Given the description of an element on the screen output the (x, y) to click on. 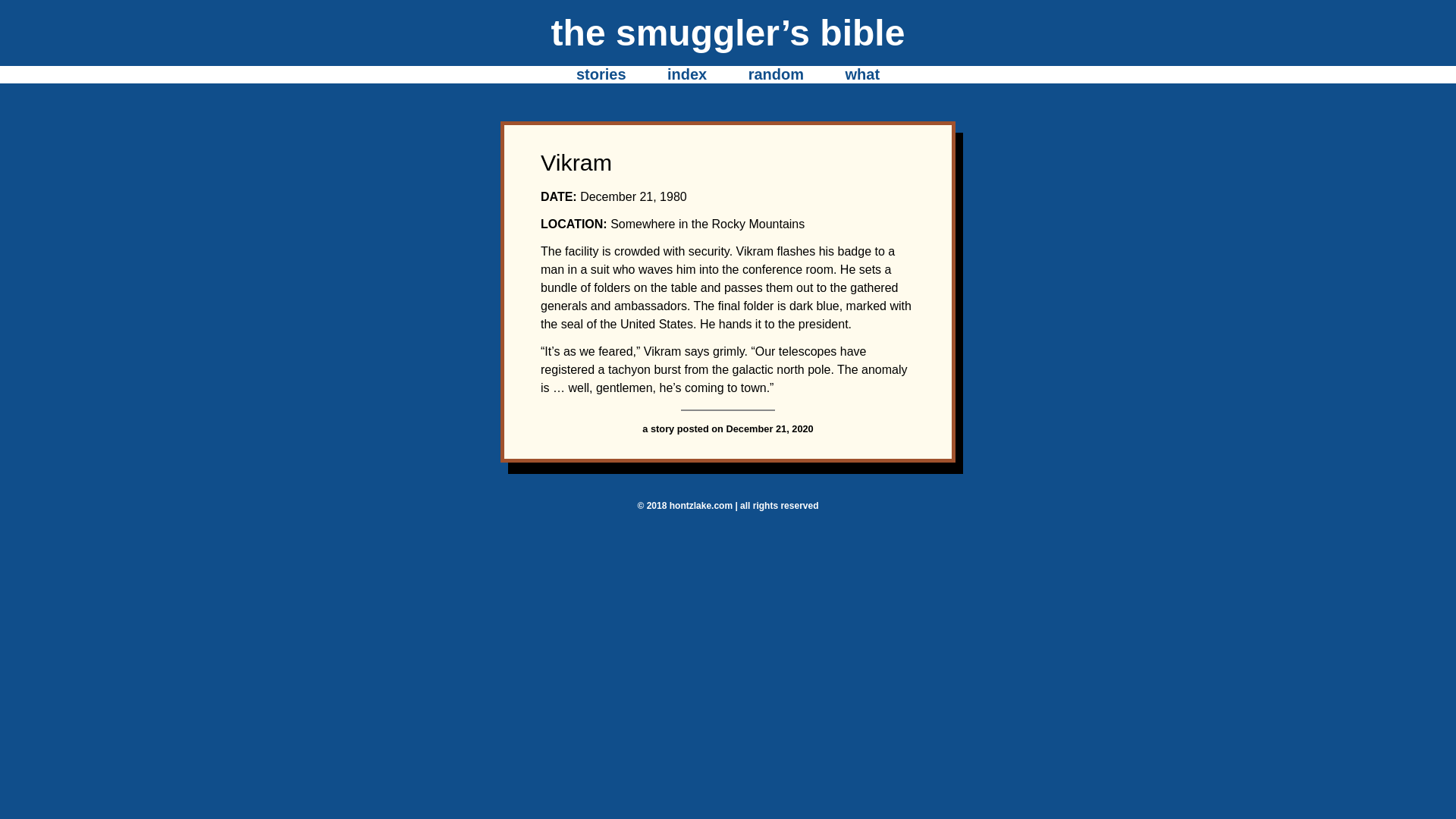
random (775, 74)
stories (601, 74)
Vikram (575, 162)
index (686, 74)
what (861, 74)
